Given the description of an element on the screen output the (x, y) to click on. 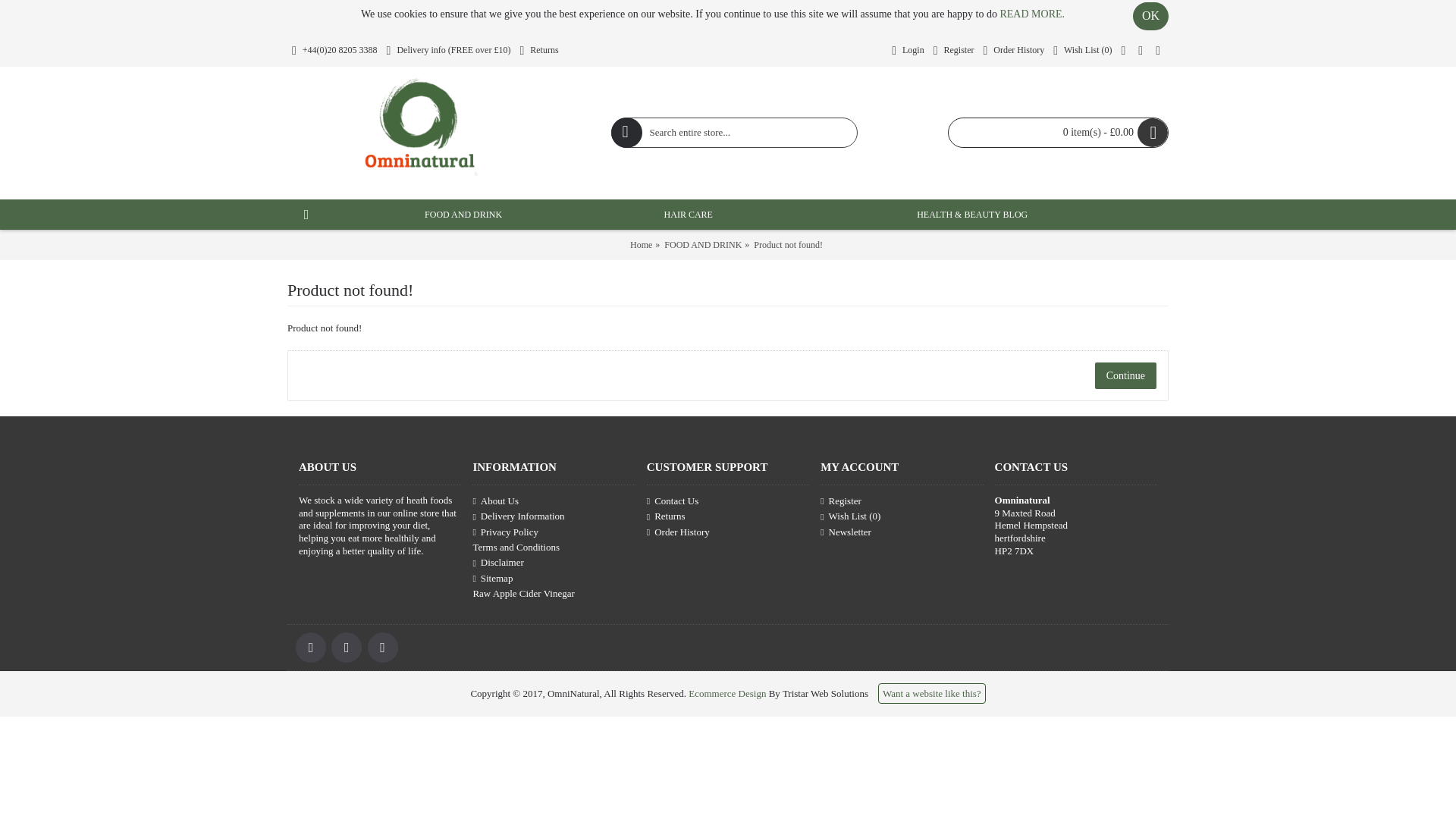
Delivery Information (552, 516)
Register (953, 51)
Raw Apple Cider Vinegar (552, 593)
About Us (552, 500)
Product not found! (788, 244)
Order History (1013, 51)
READ MORE. (1031, 13)
FOOD AND DRINK (702, 244)
Omninatural (419, 132)
HAIR CARE (687, 214)
Returns (538, 51)
FOOD AND DRINK (462, 214)
OK (1150, 16)
Sitemap (552, 578)
Privacy Policy (552, 531)
